Given the description of an element on the screen output the (x, y) to click on. 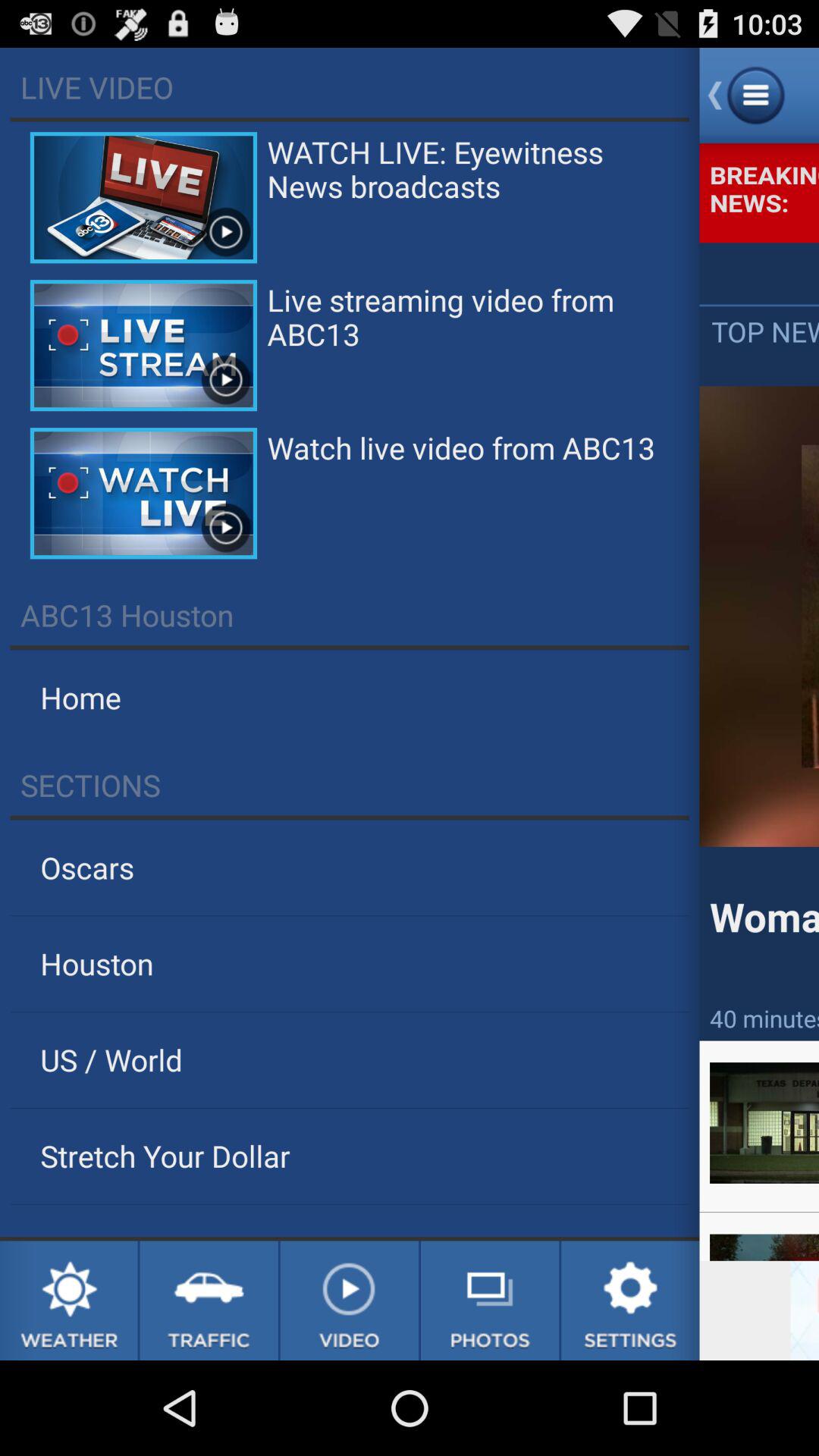
open photo gallery (489, 1300)
